Given the description of an element on the screen output the (x, y) to click on. 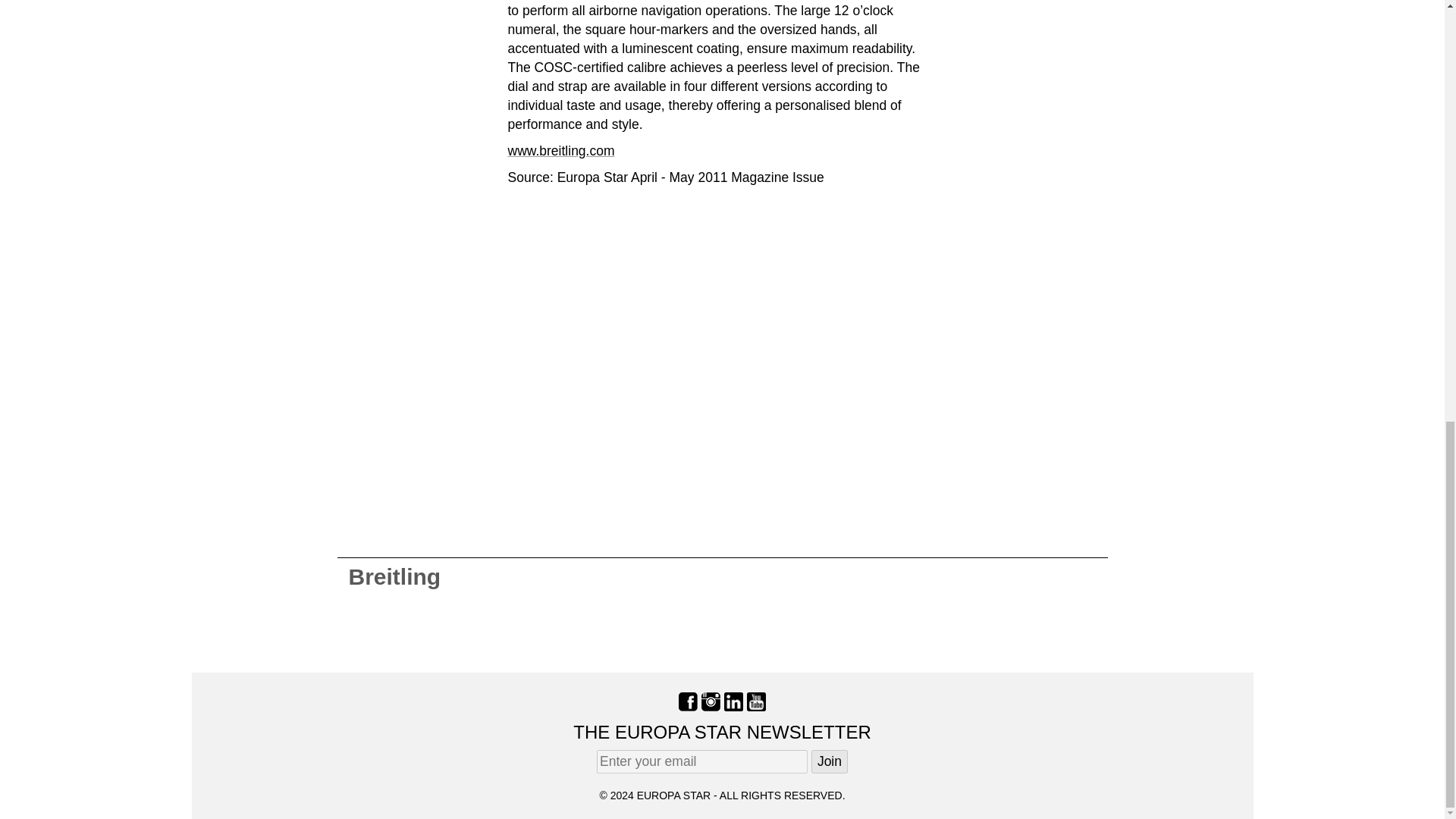
Instagram (710, 700)
Linkedin (732, 700)
Youtube (755, 700)
Facebook (687, 700)
Join (828, 761)
